Given the description of an element on the screen output the (x, y) to click on. 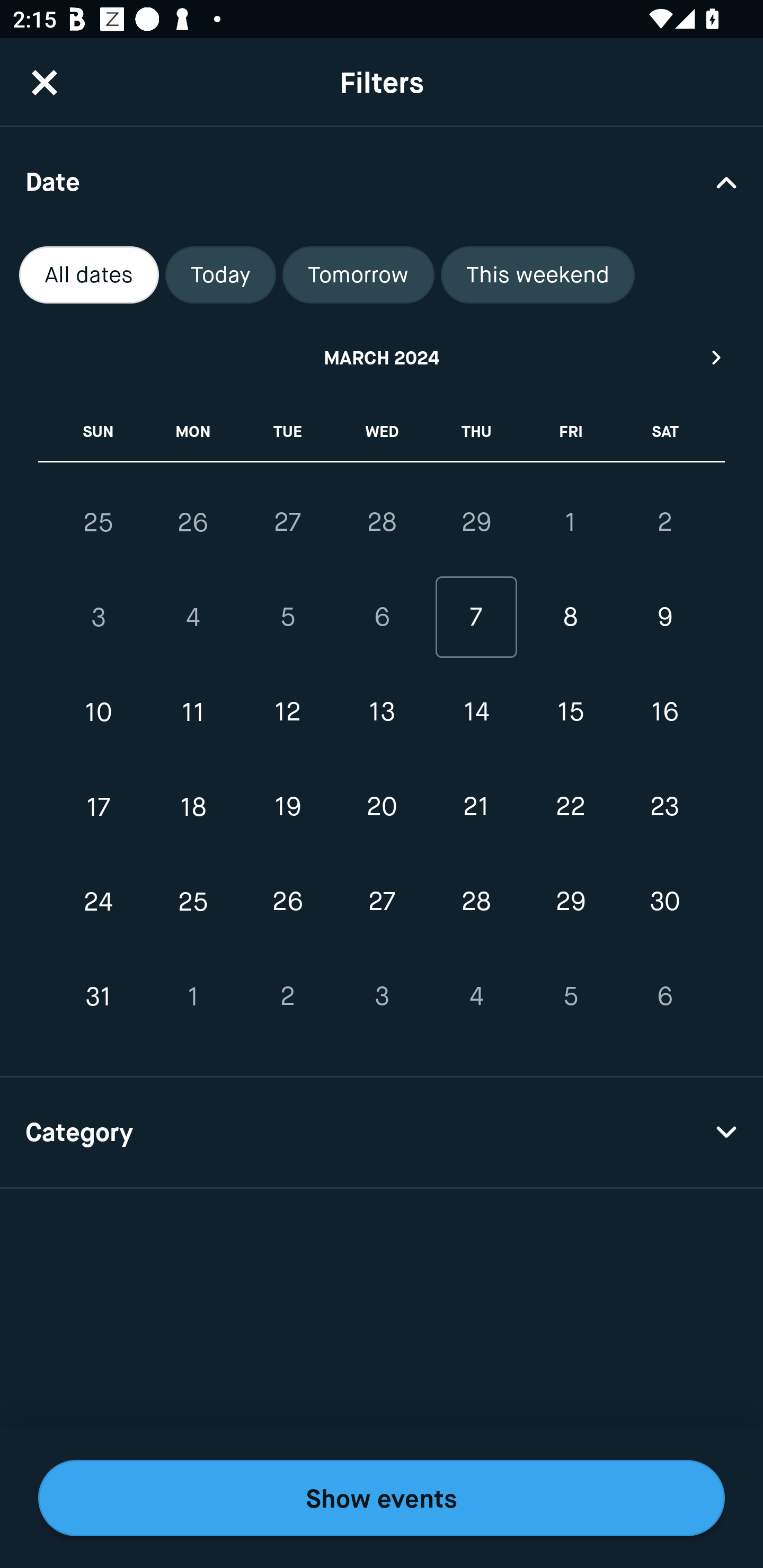
CloseButton (44, 82)
Date Drop Down Arrow (381, 181)
All dates (88, 274)
Today (220, 274)
Tomorrow (358, 274)
This weekend (537, 274)
Next (717, 357)
25 (98, 522)
26 (192, 522)
27 (287, 522)
28 (381, 522)
29 (475, 522)
1 (570, 522)
2 (664, 522)
3 (98, 617)
4 (192, 617)
5 (287, 617)
6 (381, 617)
7 (475, 617)
8 (570, 617)
9 (664, 617)
10 (98, 711)
11 (192, 711)
12 (287, 711)
13 (381, 711)
14 (475, 711)
15 (570, 711)
16 (664, 711)
17 (98, 806)
18 (192, 806)
19 (287, 806)
20 (381, 806)
21 (475, 806)
22 (570, 806)
23 (664, 806)
24 (98, 901)
25 (192, 901)
26 (287, 901)
27 (381, 901)
28 (475, 901)
29 (570, 901)
30 (664, 901)
31 (98, 996)
1 (192, 996)
2 (287, 996)
3 (381, 996)
4 (475, 996)
5 (570, 996)
6 (664, 996)
Category Drop Down Arrow (381, 1132)
Show events (381, 1497)
